Given the description of an element on the screen output the (x, y) to click on. 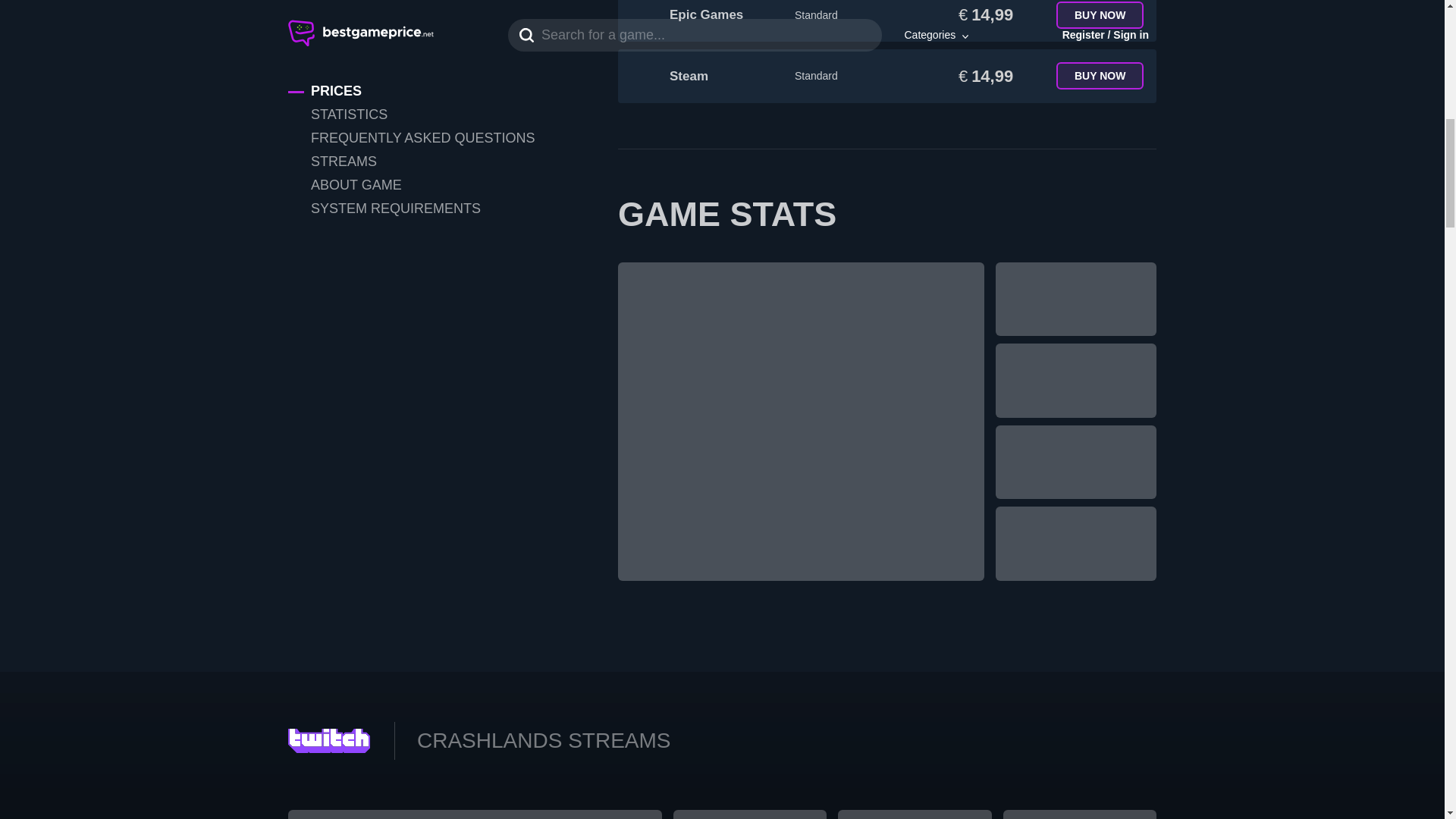
BUY NOW (1099, 14)
ABOUT GAME (419, 38)
FREQUENTLY ASKED QUESTIONS (419, 2)
BUY NOW (1099, 75)
SYSTEM REQUIREMENTS (419, 62)
STREAMS (419, 15)
